Given the description of an element on the screen output the (x, y) to click on. 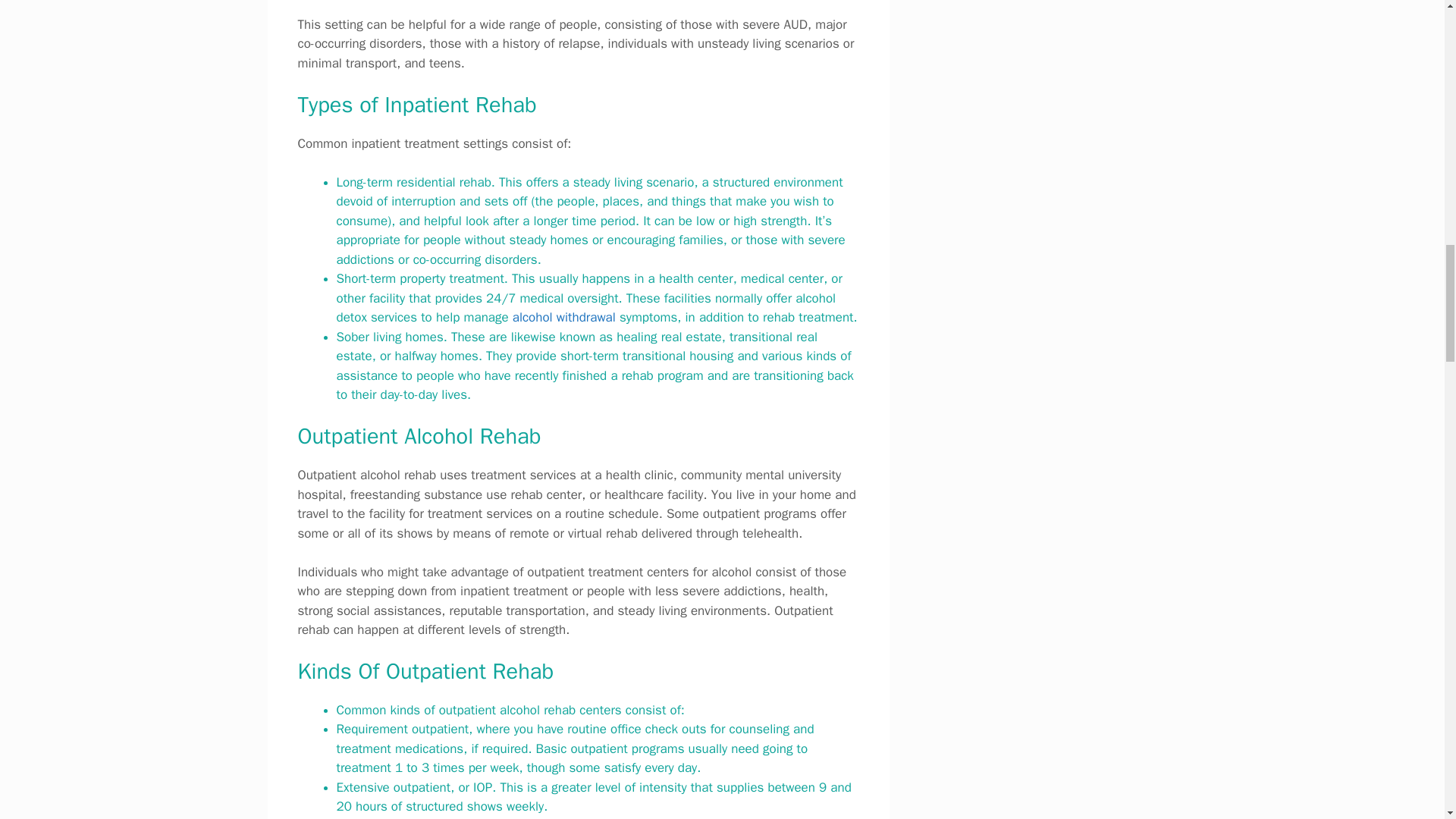
alcohol withdrawal (563, 317)
